Given the description of an element on the screen output the (x, y) to click on. 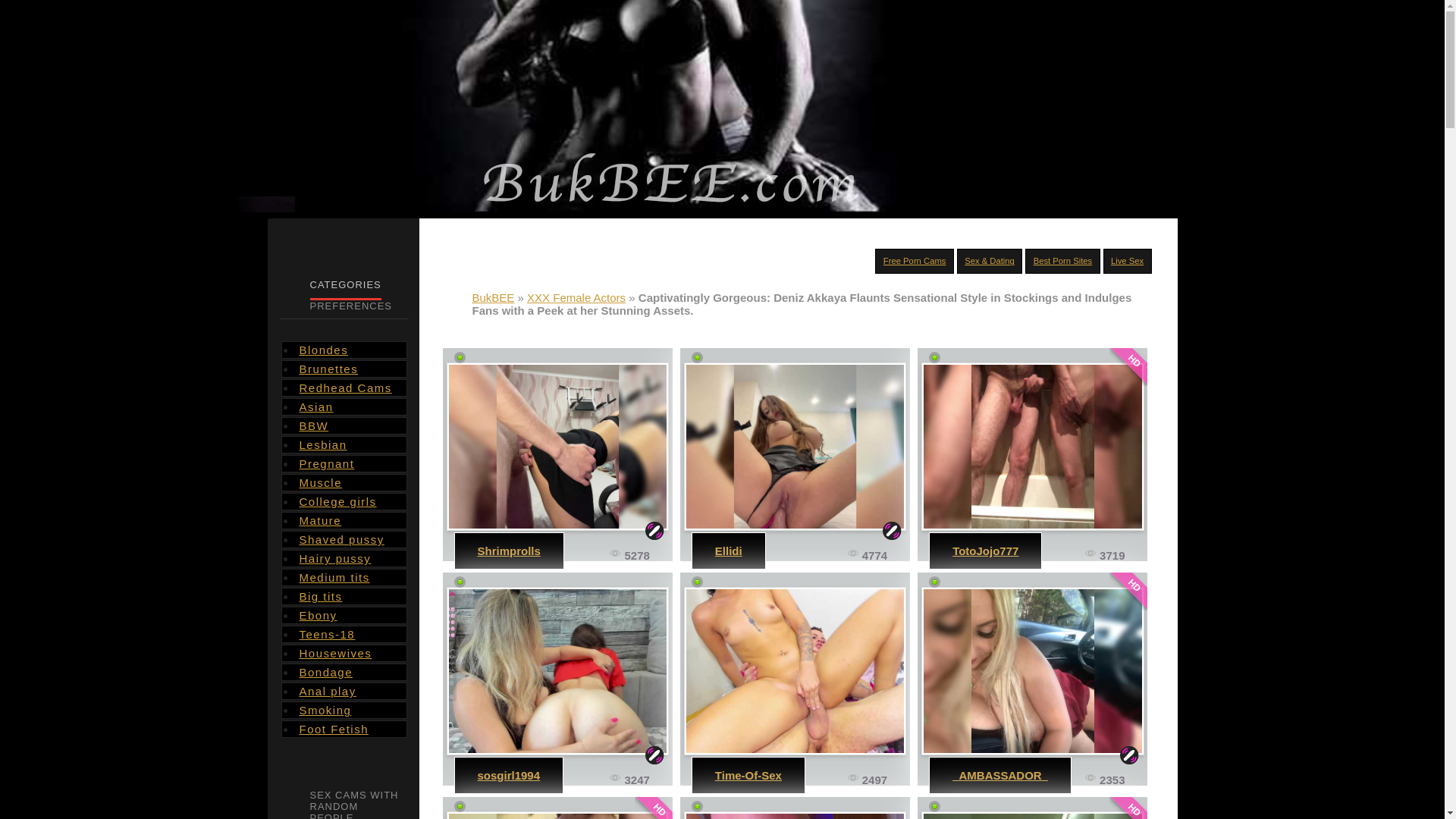
Free Porn Cams (914, 260)
Live Sex (1126, 260)
TotoJojo777 (984, 550)
Time-Of-Sex (747, 775)
sosgirl1994 (556, 671)
Ellidi (728, 550)
BukBEE (492, 297)
Shrimprolls (508, 550)
DanikaDillan (794, 815)
Best Porn Sites (1063, 260)
